Given the description of an element on the screen output the (x, y) to click on. 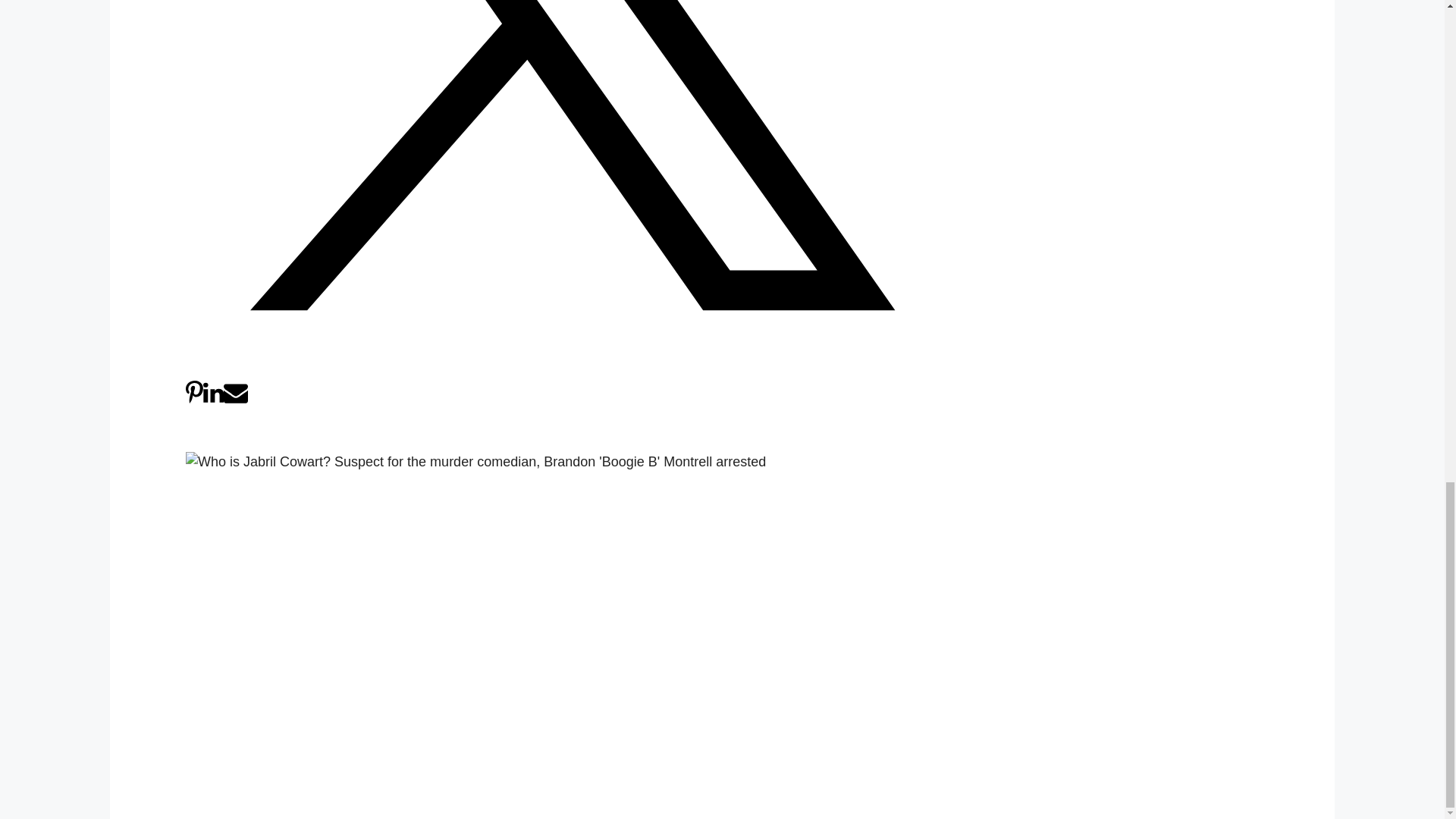
Share on Pinterest (194, 400)
Share on LinkedIn (213, 400)
Share via Email (235, 400)
Share on Twitter (572, 369)
